Given the description of an element on the screen output the (x, y) to click on. 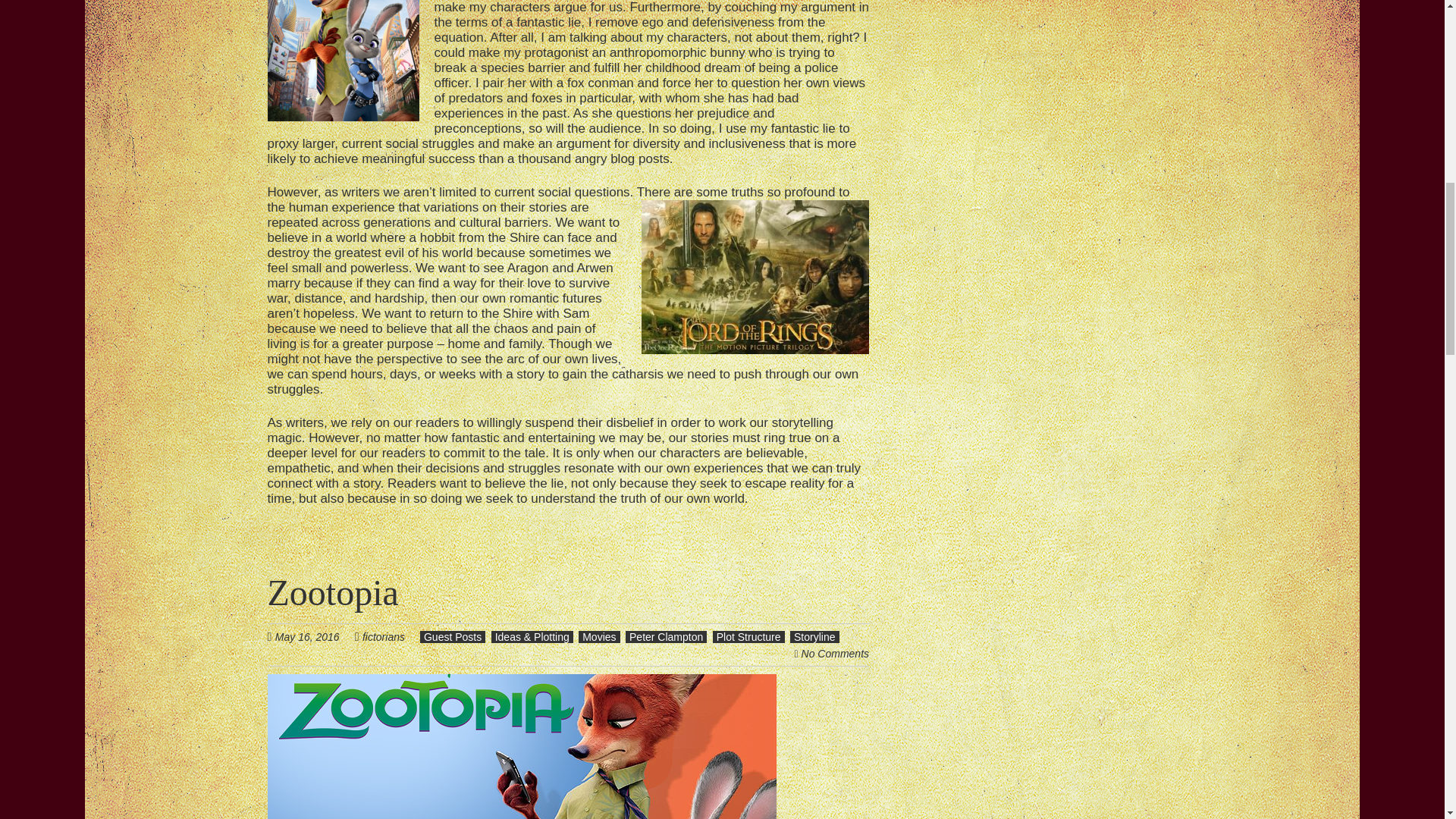
Plot Structure (748, 636)
fictorians (383, 636)
View all posts by fictorians (383, 636)
Permalink to Zootopia (521, 682)
Peter Clampton (666, 636)
May 16, 2016 (315, 635)
Storyline (814, 636)
Movies (599, 636)
Zootopia (331, 592)
No Comments (835, 653)
Guest Posts (452, 636)
Comment on Zootopia (835, 653)
Permalink to Zootopia (331, 592)
